Given the description of an element on the screen output the (x, y) to click on. 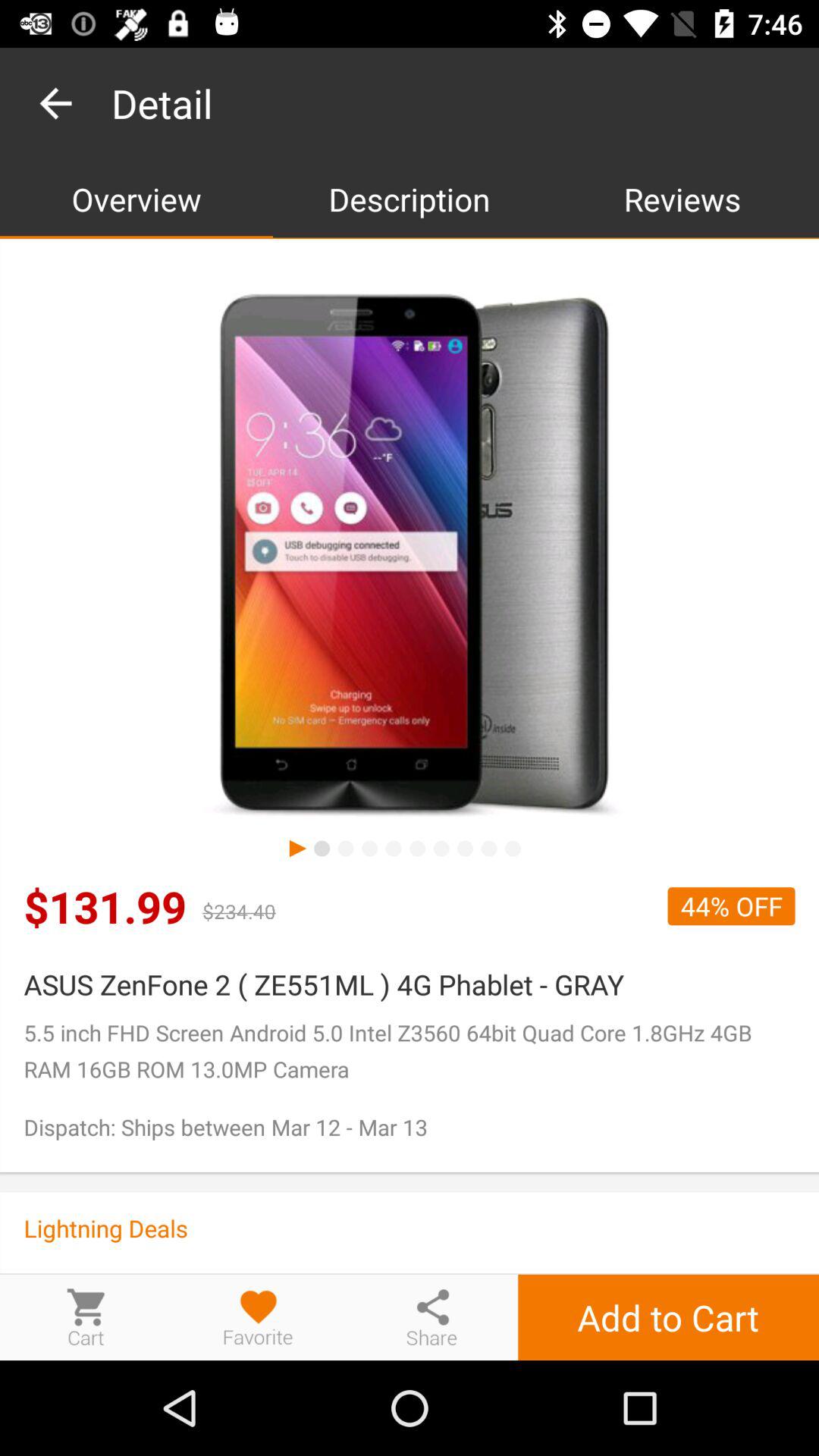
enlarges photo (409, 556)
